Given the description of an element on the screen output the (x, y) to click on. 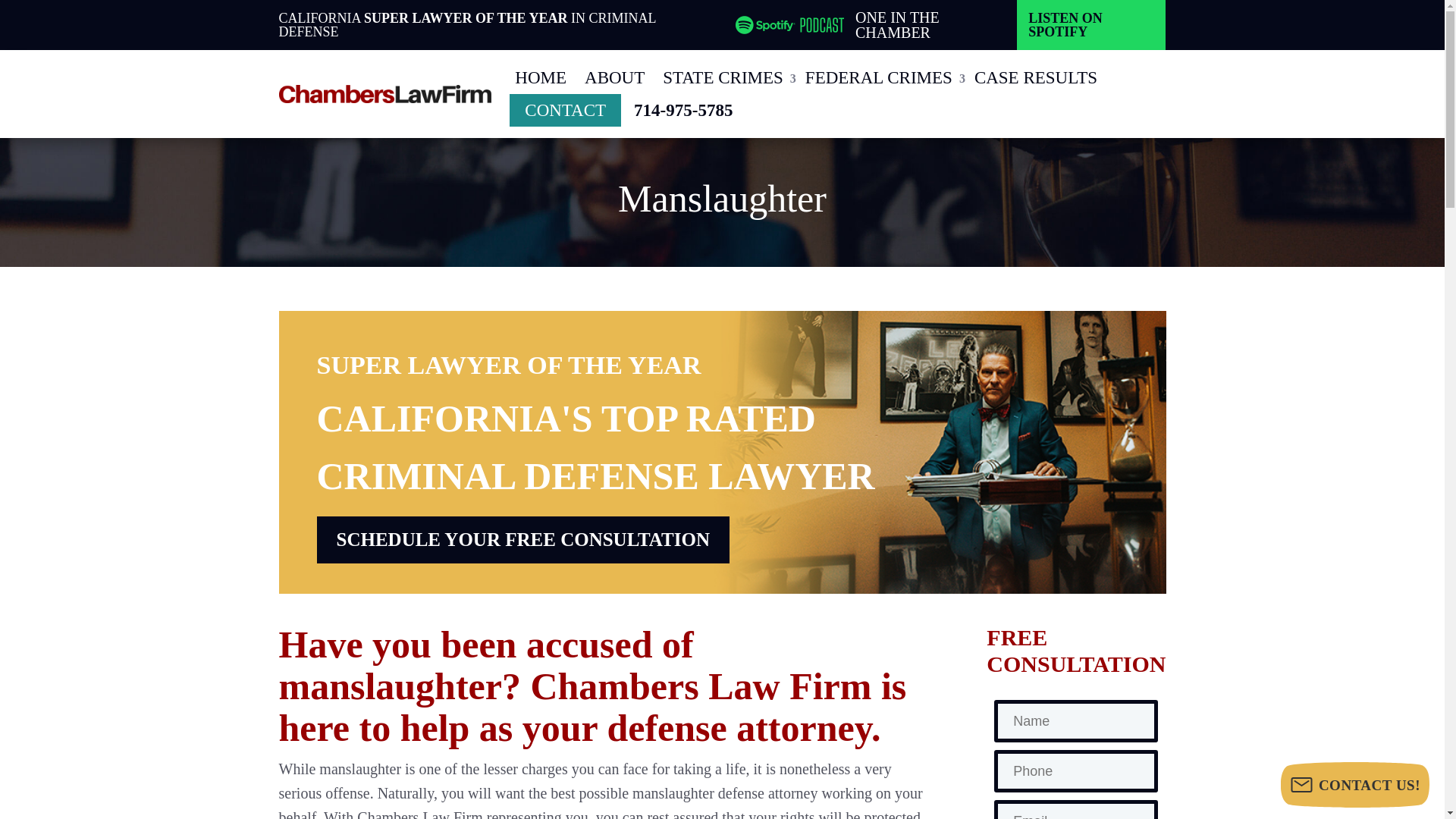
Listen on Spotify (1091, 24)
FEDERAL CRIMES (880, 77)
Home (540, 77)
Schedule Your Free Consultation (523, 539)
LISTEN ON SPOTIFY (1091, 24)
714-975-5785 (682, 110)
HOME (540, 77)
STATE CRIMES (724, 77)
ABOUT (614, 77)
CONTACT (565, 110)
Contact (565, 110)
CASE RESULTS (1035, 77)
714-975-5785 (682, 110)
